Given the description of an element on the screen output the (x, y) to click on. 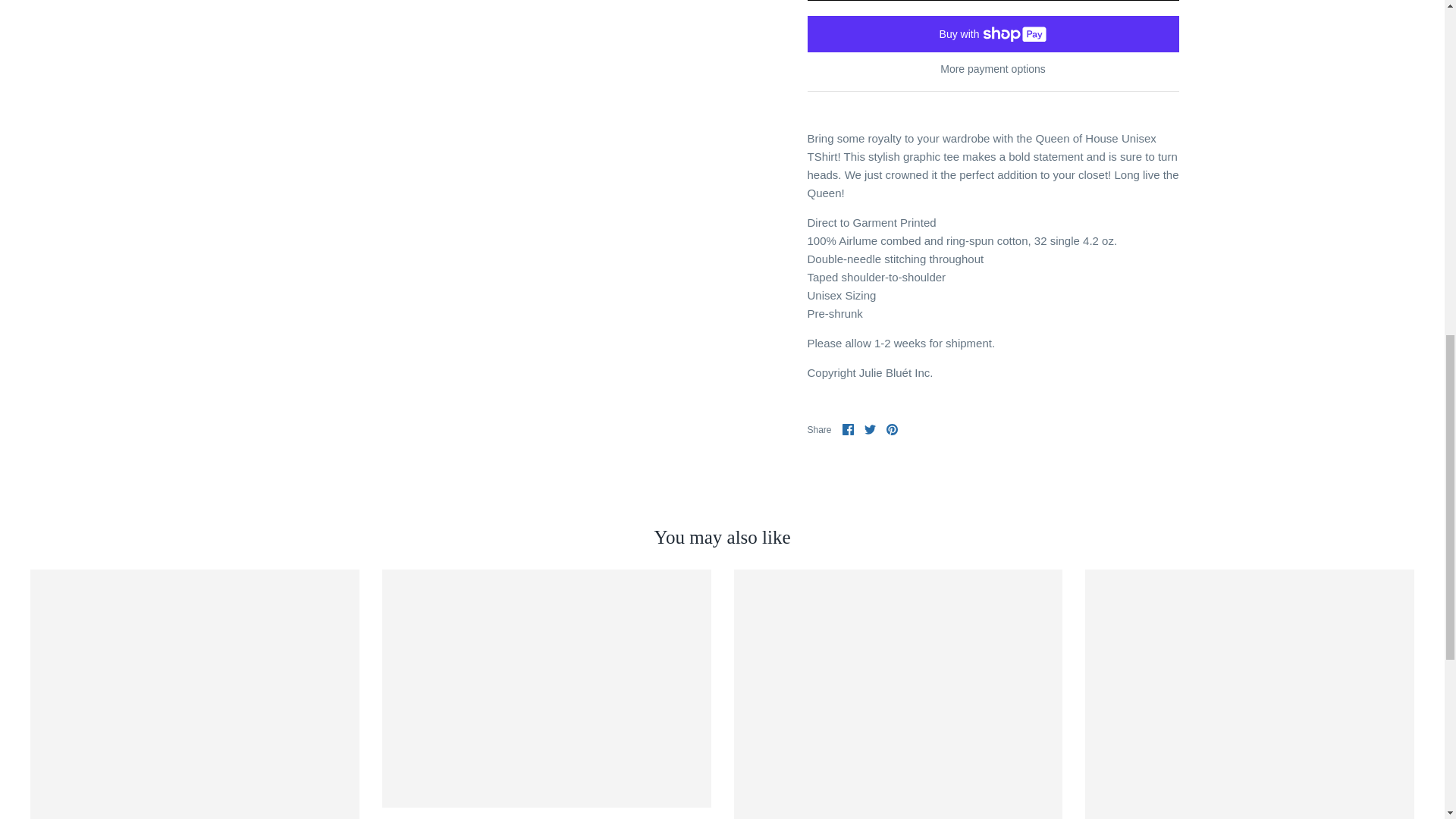
Facebook (848, 429)
Pinterest (892, 429)
Twitter (870, 429)
